Given the description of an element on the screen output the (x, y) to click on. 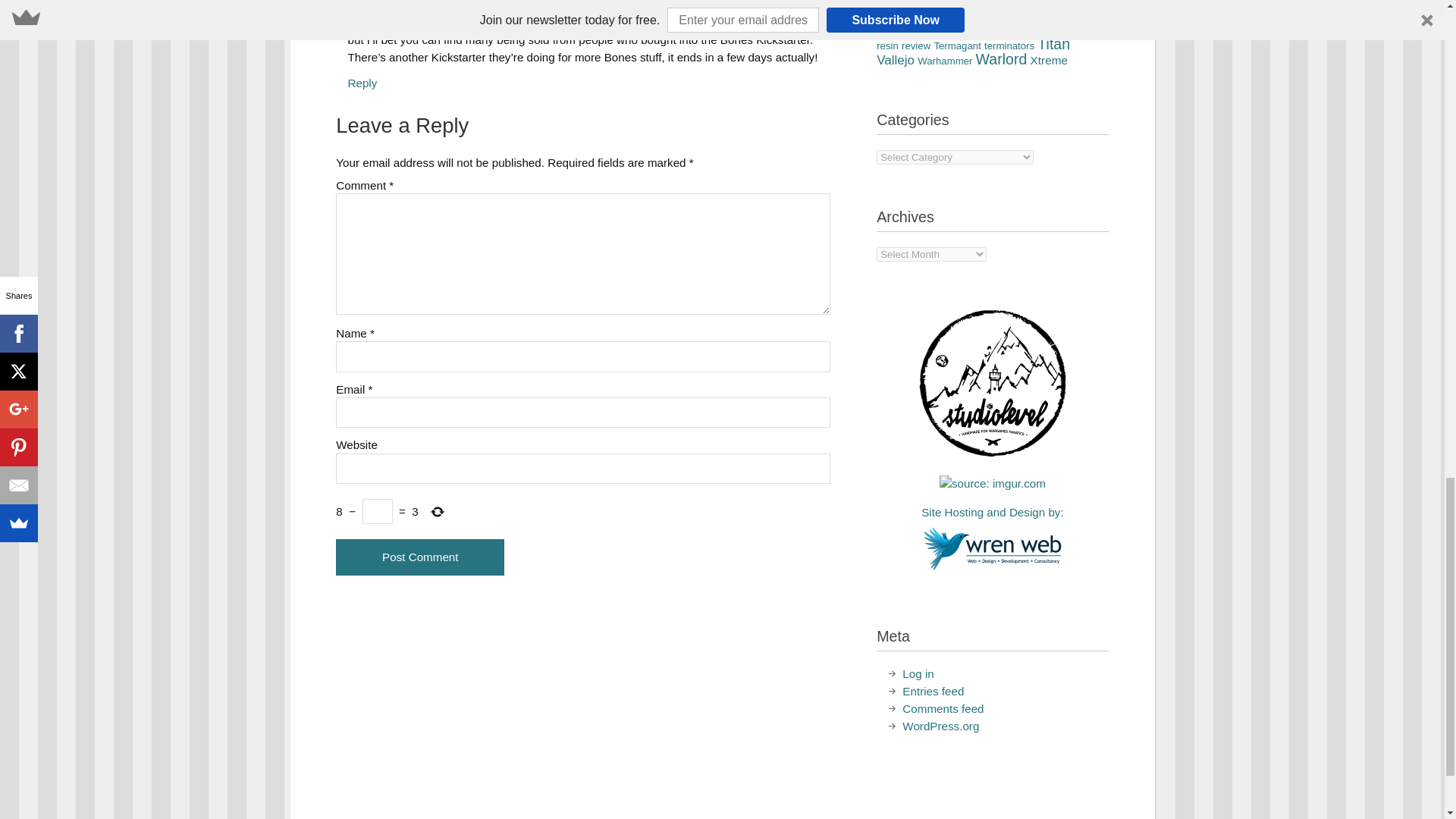
source: imgur.com (992, 484)
Post Comment (419, 556)
Reply (362, 82)
Post Comment (419, 556)
